Given the description of an element on the screen output the (x, y) to click on. 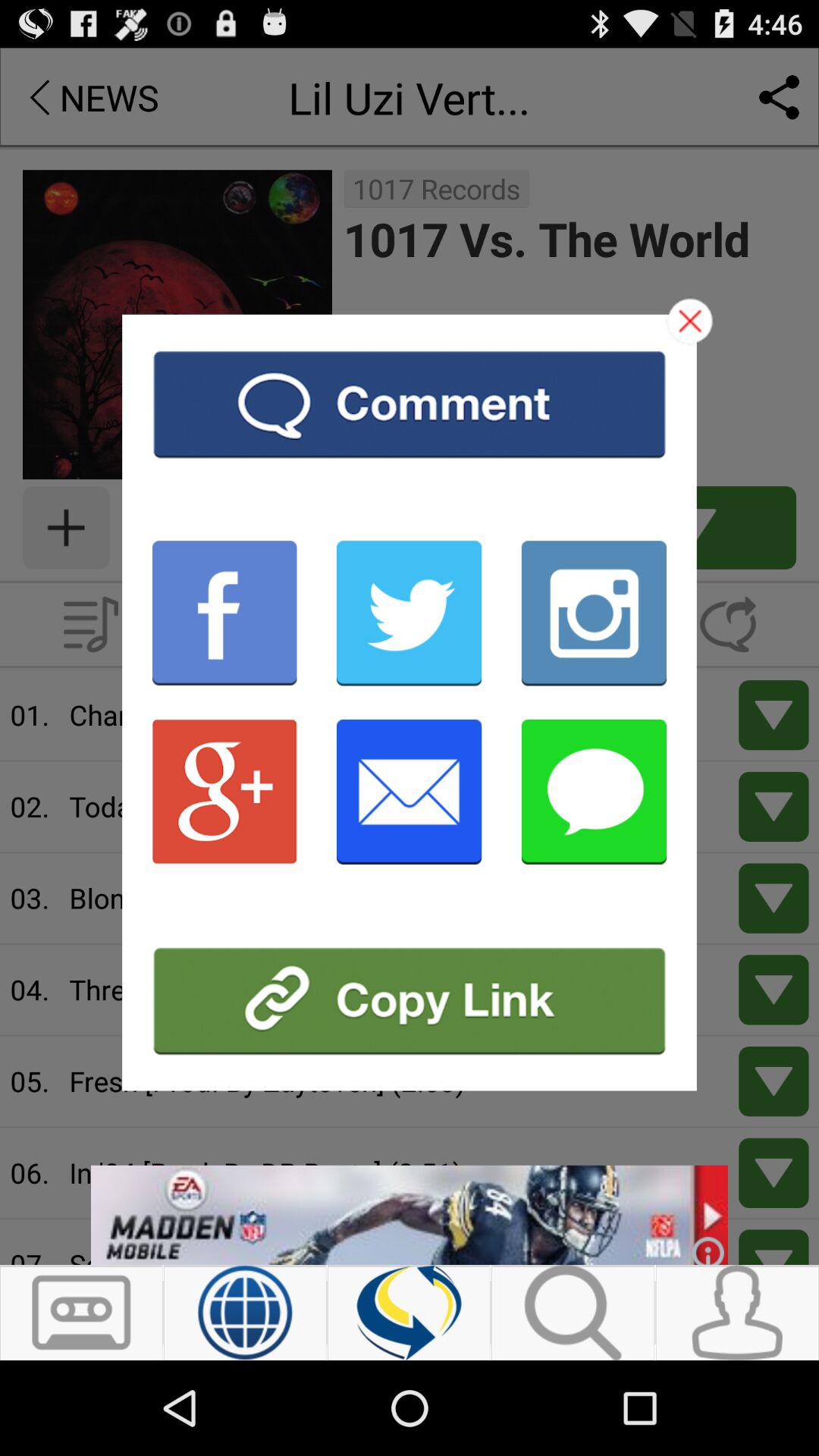
share with instagram (593, 612)
